Given the description of an element on the screen output the (x, y) to click on. 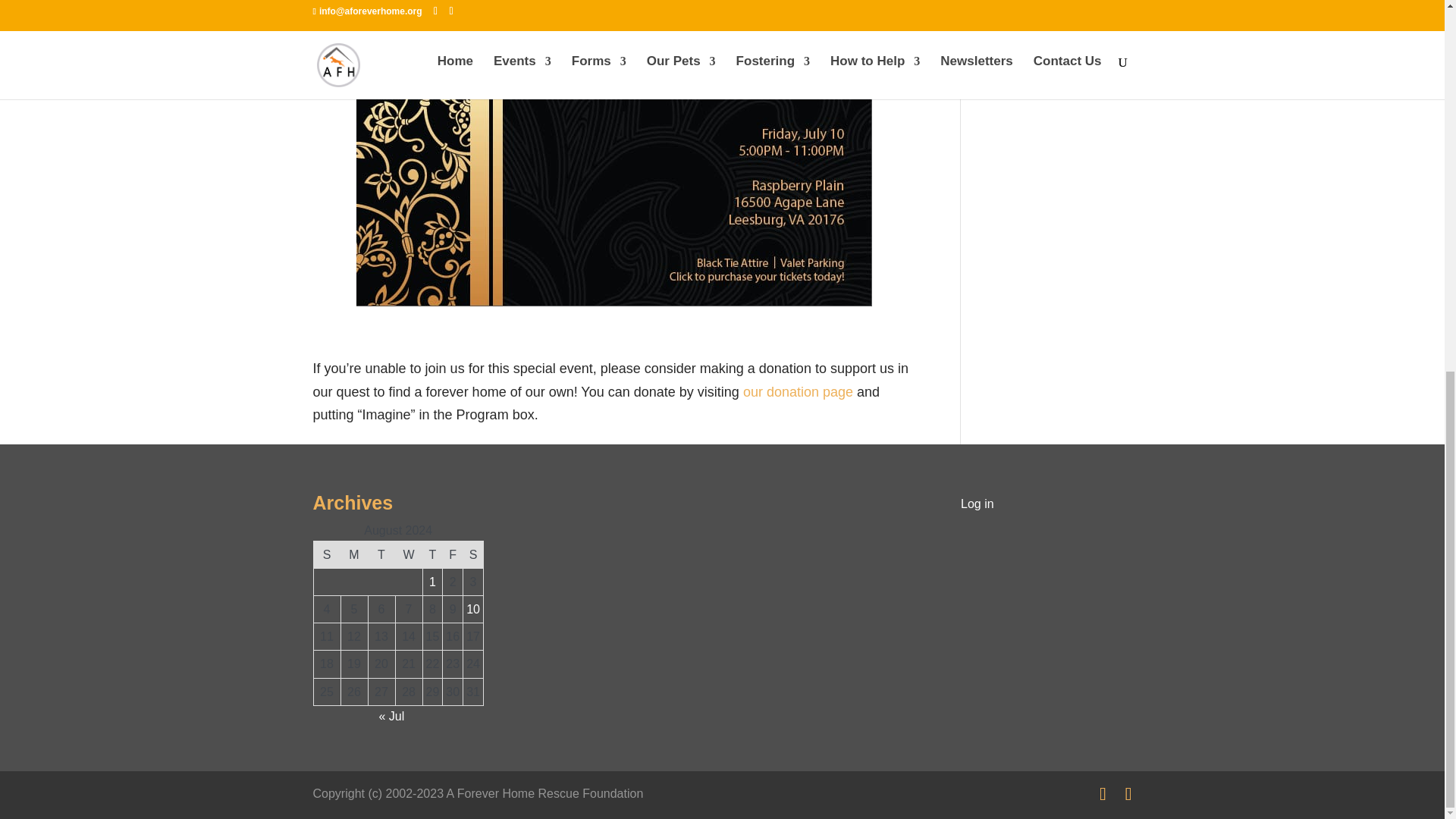
Sunday (326, 554)
Monday (354, 554)
Tuesday (381, 554)
Wednesday (408, 554)
